Given the description of an element on the screen output the (x, y) to click on. 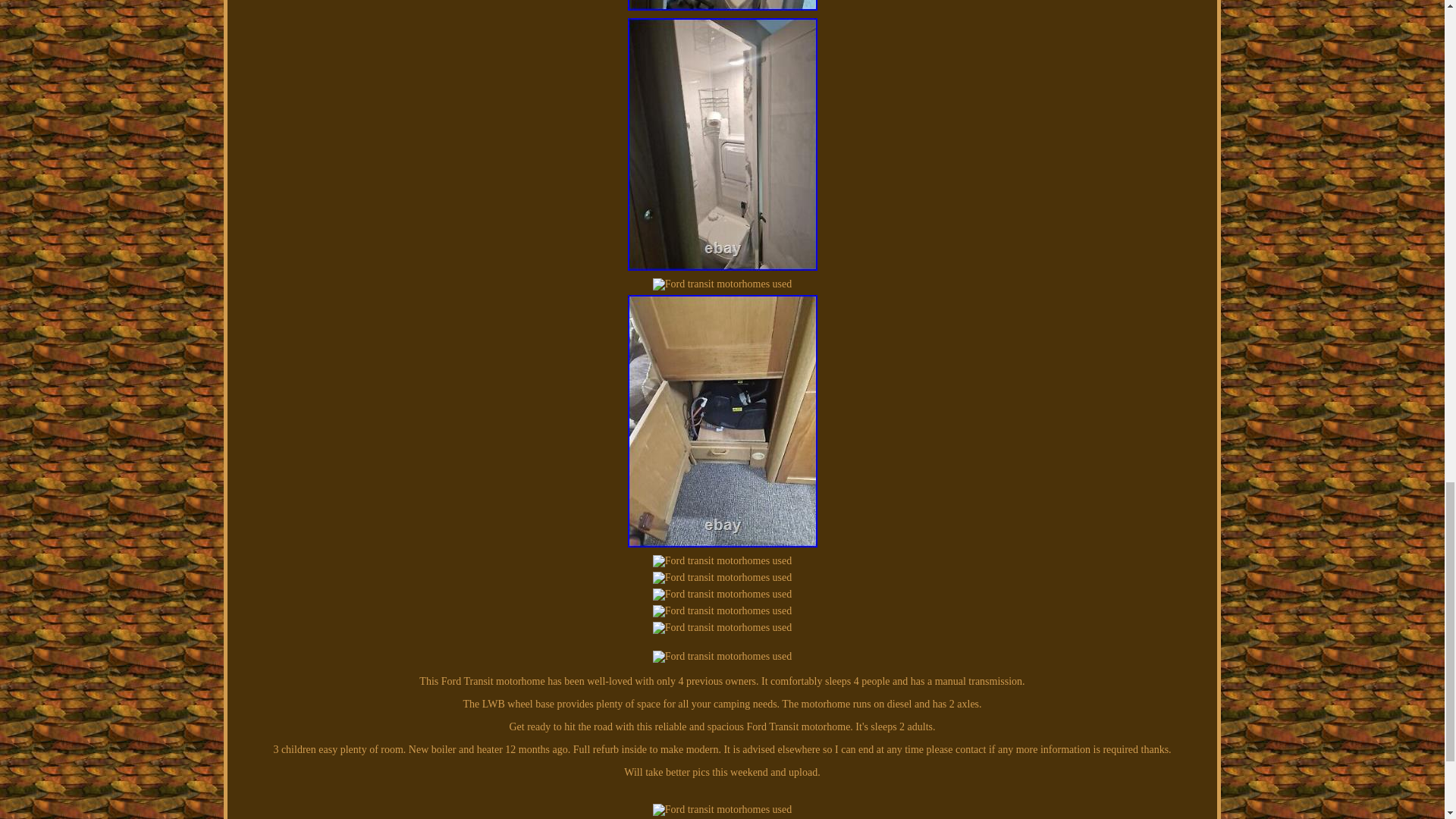
Ford transit motorhomes used (721, 144)
Ford transit motorhomes used (722, 561)
Ford transit motorhomes used (721, 5)
Ford transit motorhomes used (721, 420)
Ford transit motorhomes used (722, 577)
Ford transit motorhomes used (722, 594)
Ford transit motorhomes used (722, 284)
